Given the description of an element on the screen output the (x, y) to click on. 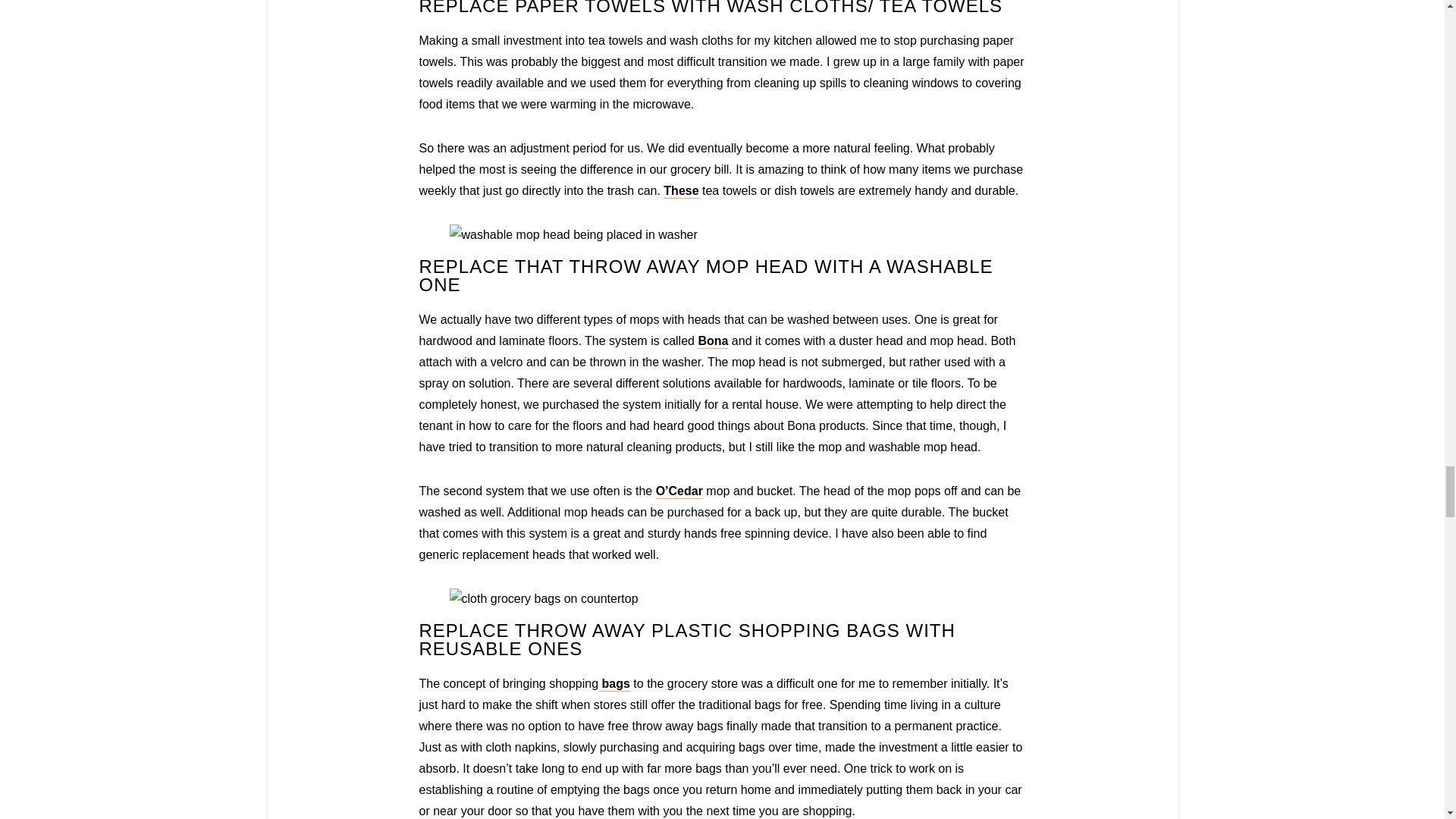
These (680, 191)
bags (614, 684)
Bona (712, 341)
